Given the description of an element on the screen output the (x, y) to click on. 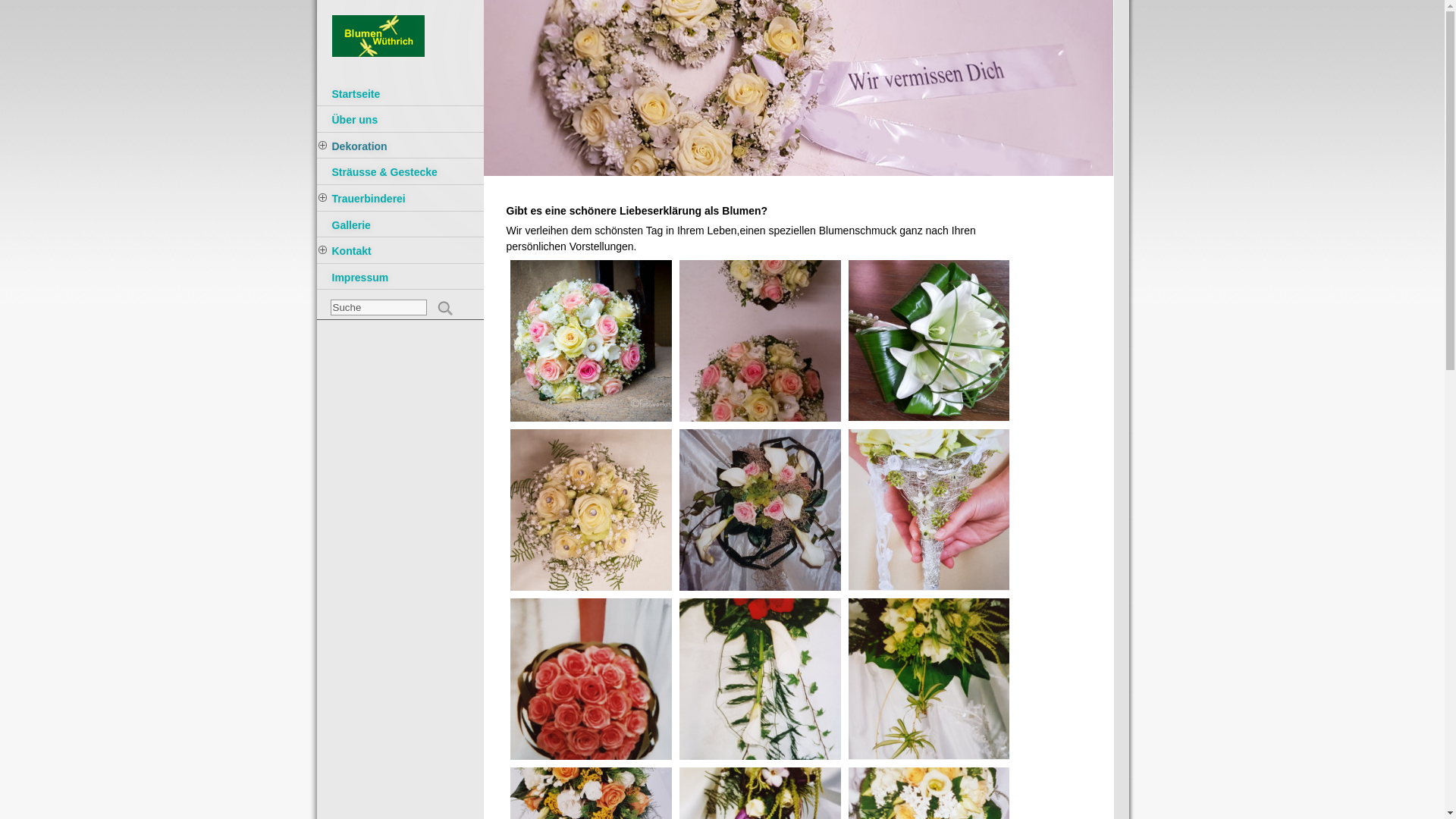
Startseite Element type: text (399, 94)
Gallerie Element type: text (399, 226)
Dekoration Element type: text (399, 147)
Impressum Element type: text (399, 278)
Kontakt Element type: text (399, 251)
Trauerbinderei Element type: text (399, 199)
